Given the description of an element on the screen output the (x, y) to click on. 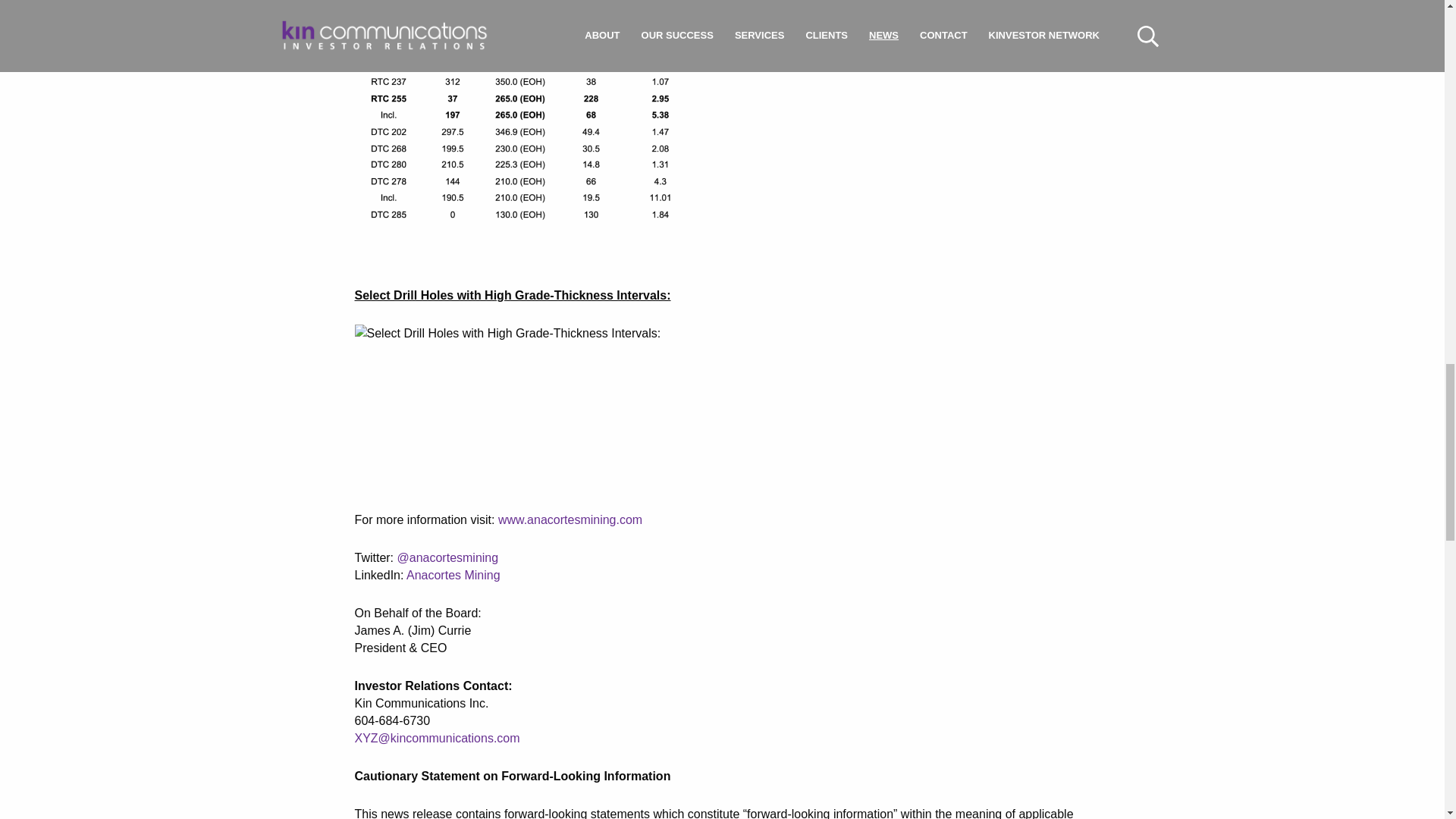
www.anacortesmining.com (569, 519)
Anacortes Mining (453, 574)
Page 2 (722, 793)
